Given the description of an element on the screen output the (x, y) to click on. 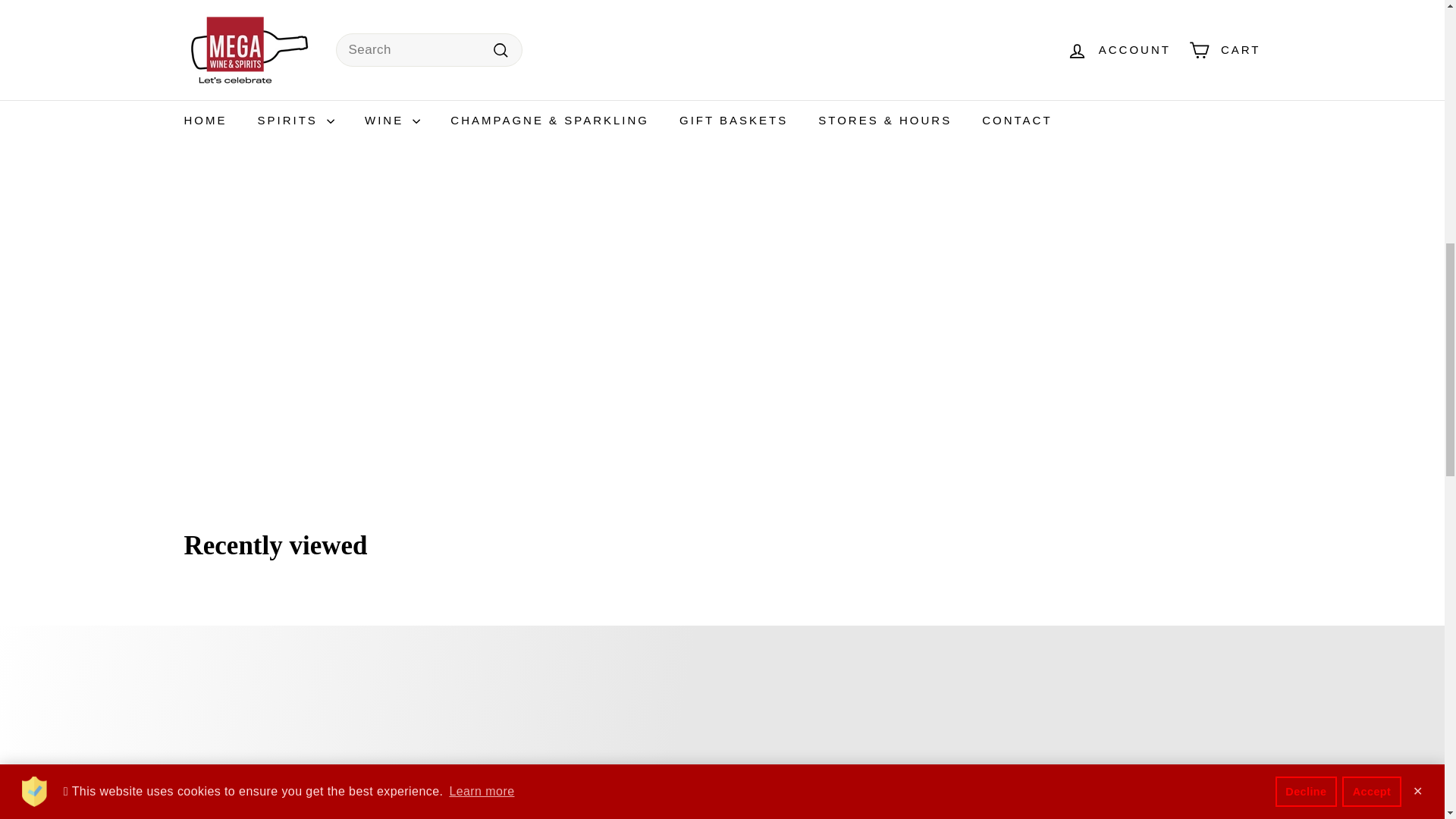
Share on Facebook (686, 19)
Tweet on X (763, 19)
Pin on Pinterest (838, 19)
